Given the description of an element on the screen output the (x, y) to click on. 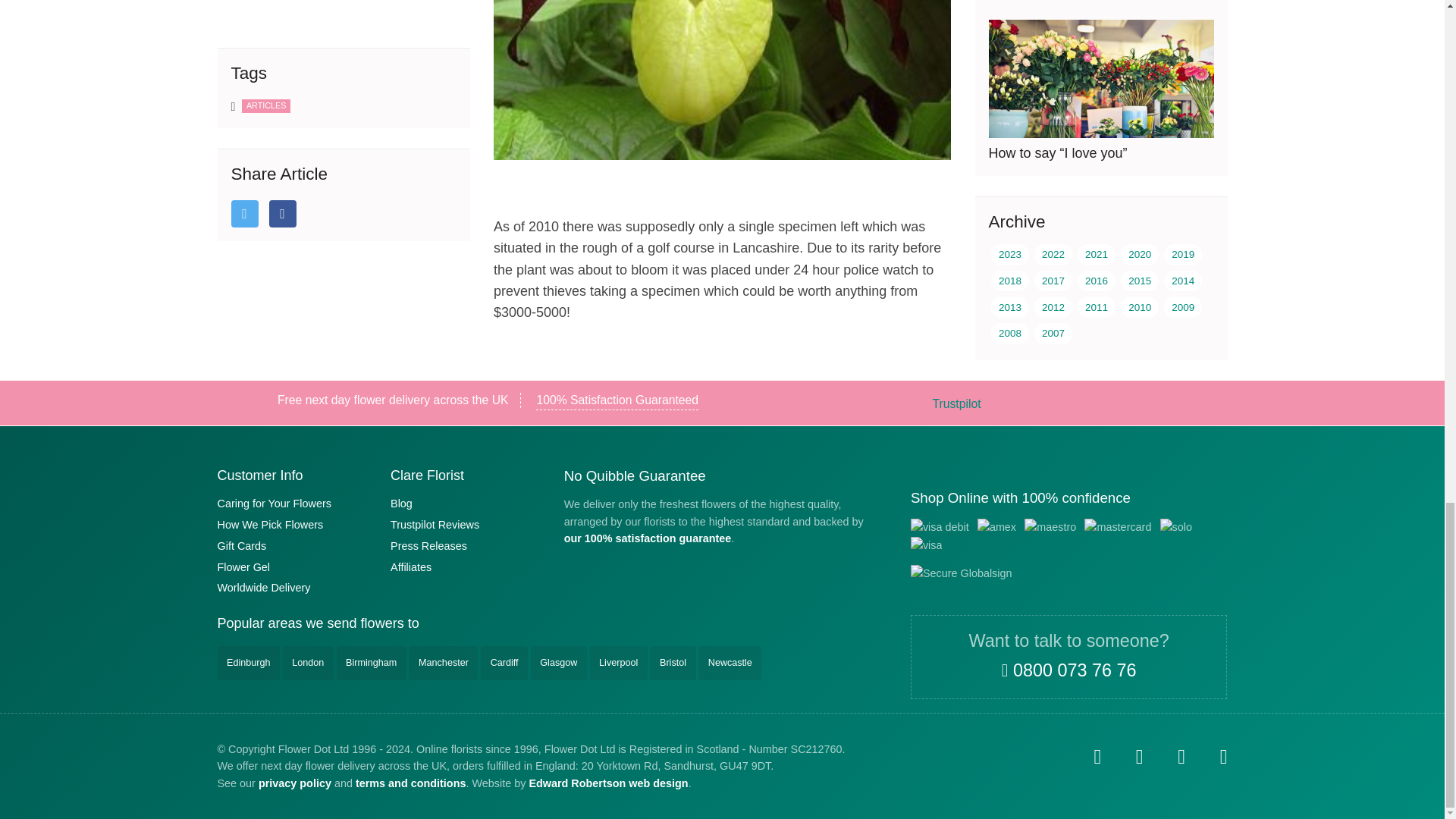
YellowLadysSlipper2 (721, 79)
